Given the description of an element on the screen output the (x, y) to click on. 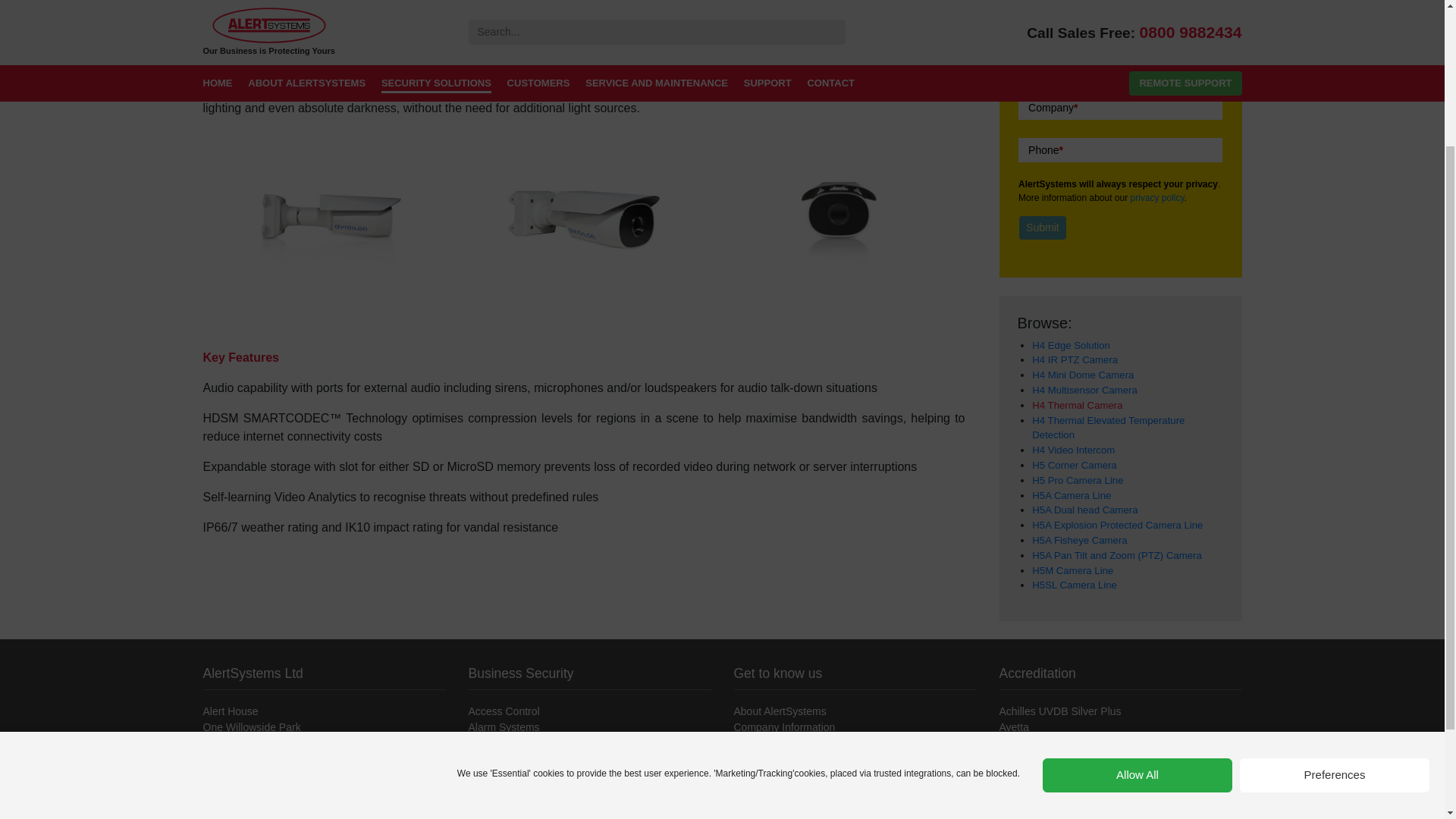
privacy policy (1158, 197)
Submit (1042, 227)
H4 IR PTZ Camera (1075, 359)
H4 Mini Dome Camera (1083, 374)
H4 Edge Solution (1070, 345)
